Given the description of an element on the screen output the (x, y) to click on. 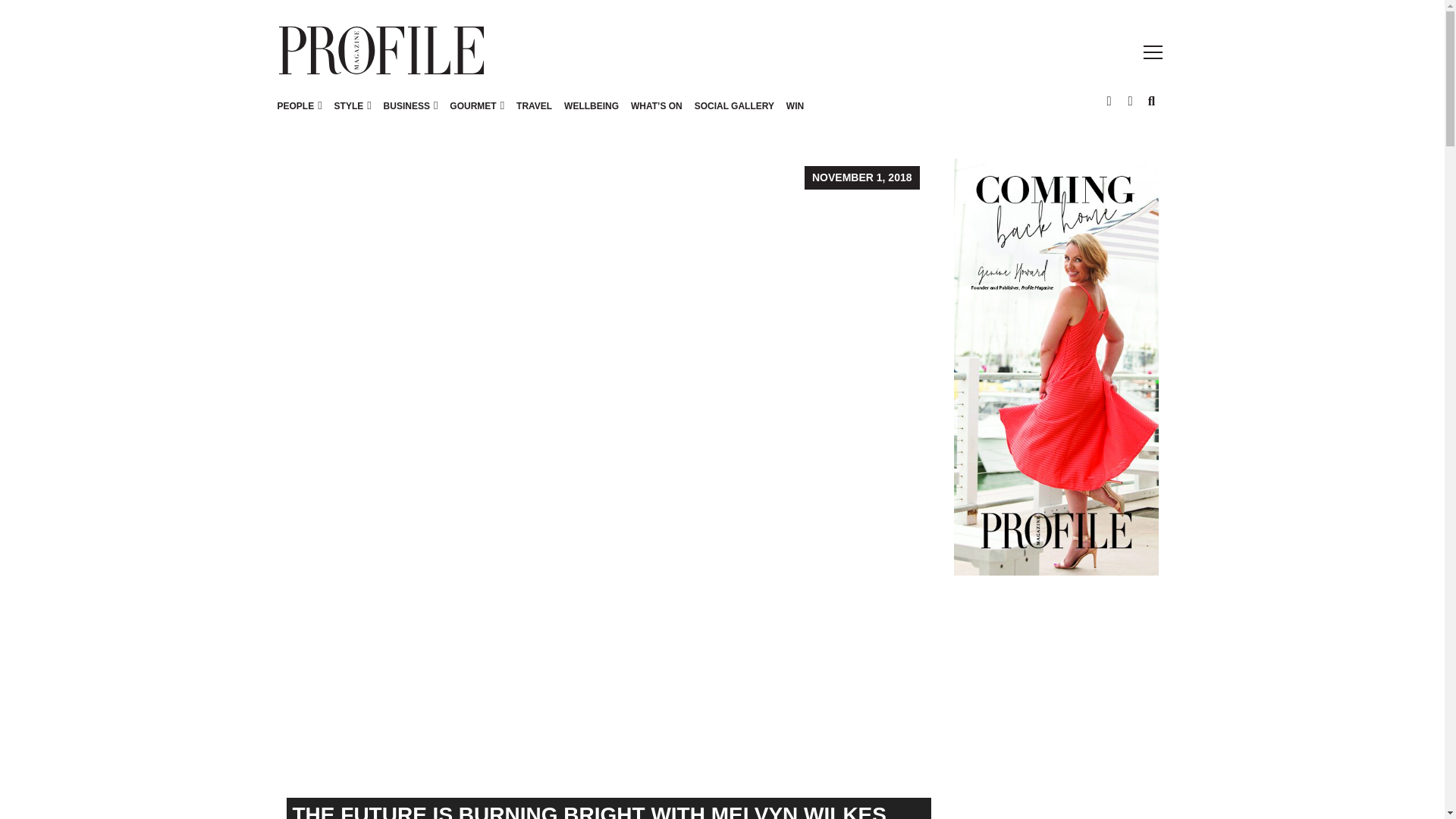
WELLBEING (591, 113)
STYLE (352, 113)
REAL ESTATE (469, 104)
WIN (794, 113)
GOURMET (476, 113)
BUSINESS (410, 113)
FASHION (354, 104)
SOCIAL GALLERY (734, 113)
BUSINESS (405, 104)
